Given the description of an element on the screen output the (x, y) to click on. 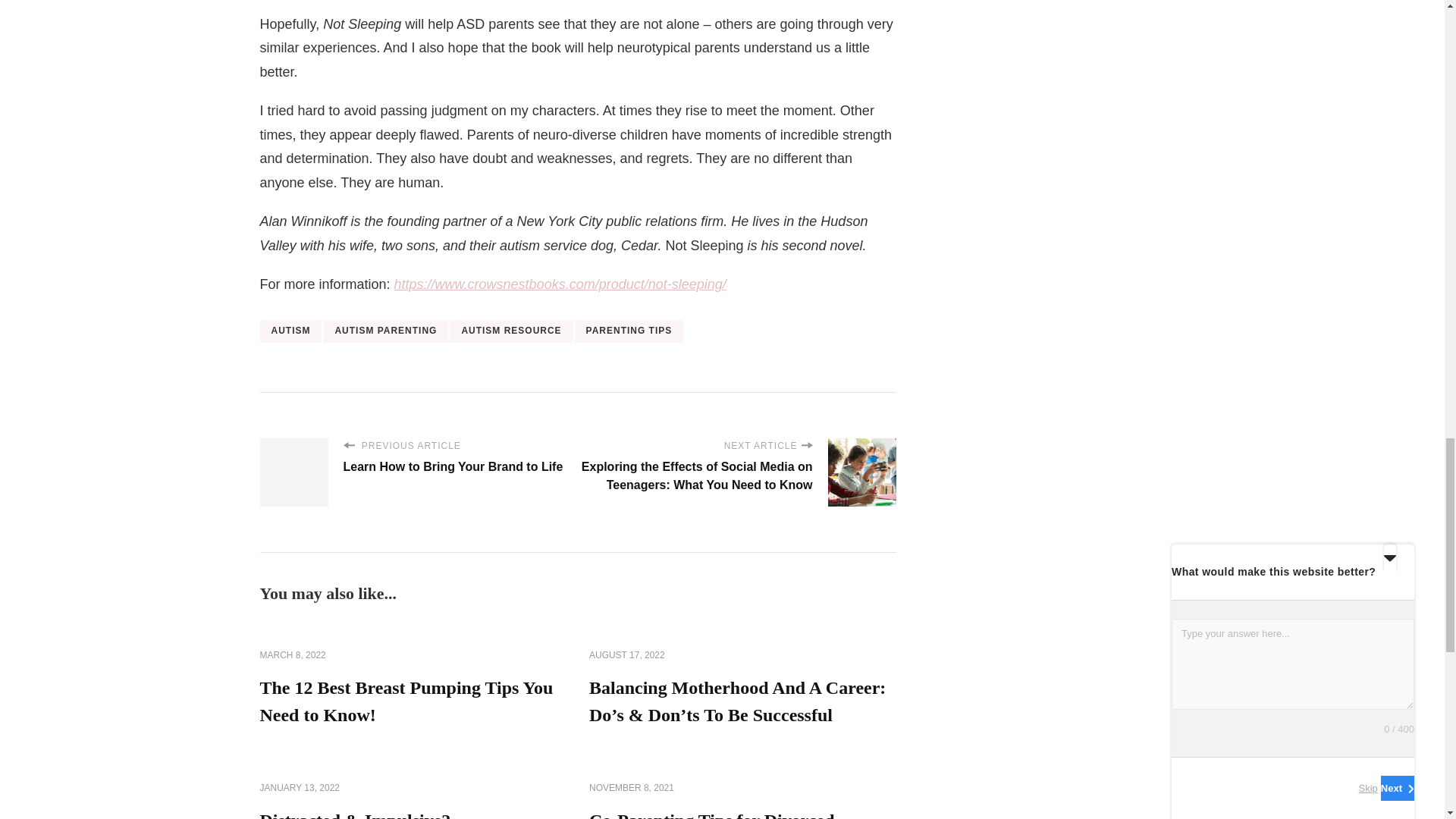
AUTISM PARENTING (385, 331)
AUTISM RESOURCE (510, 331)
PARENTING TIPS (629, 331)
AUTISM (290, 331)
MARCH 8, 2022 (291, 655)
The 12 Best Breast Pumping Tips You Need to Know! (406, 701)
